Given the description of an element on the screen output the (x, y) to click on. 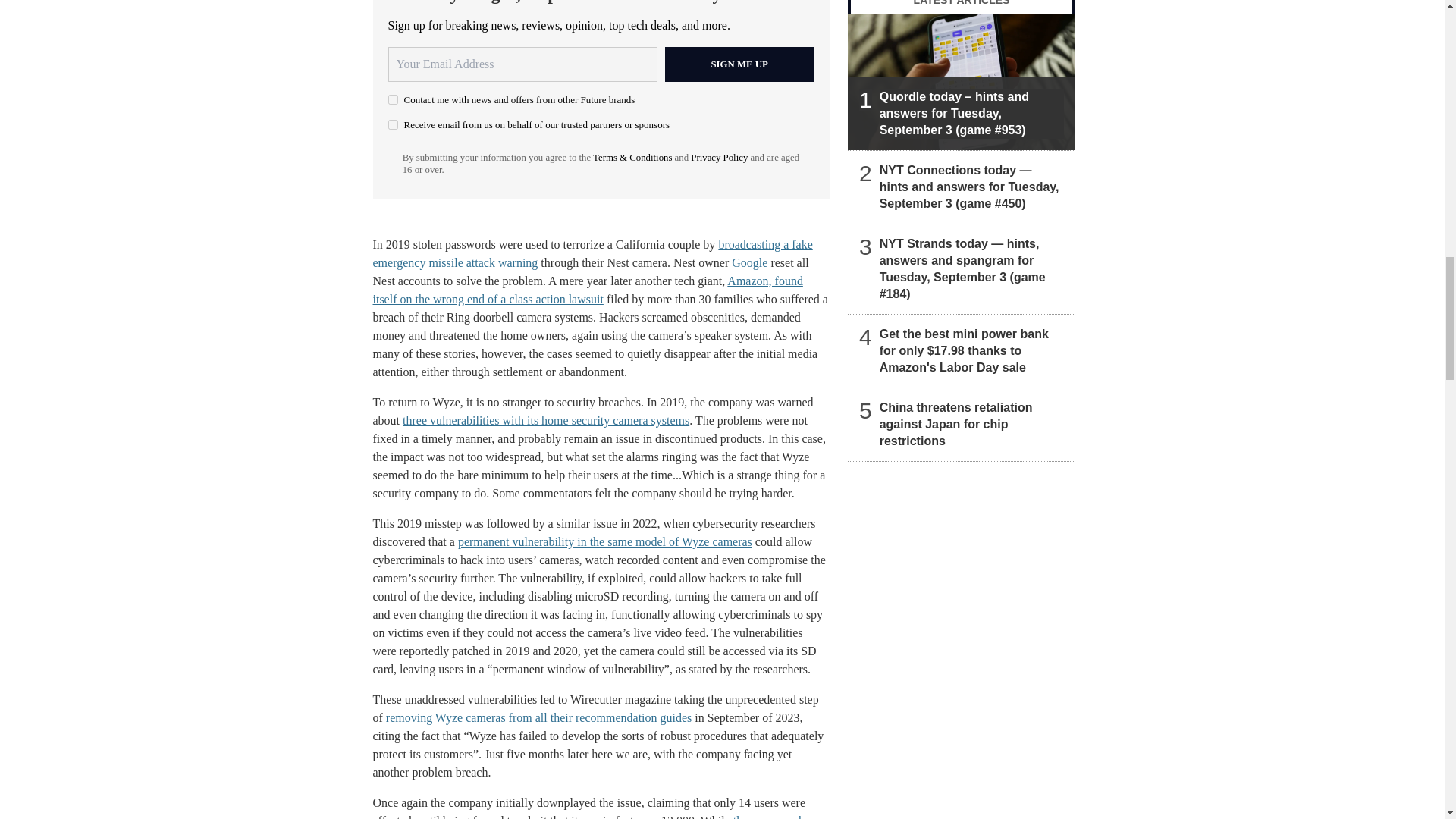
on (392, 99)
on (392, 124)
Sign me up (739, 63)
